Given the description of an element on the screen output the (x, y) to click on. 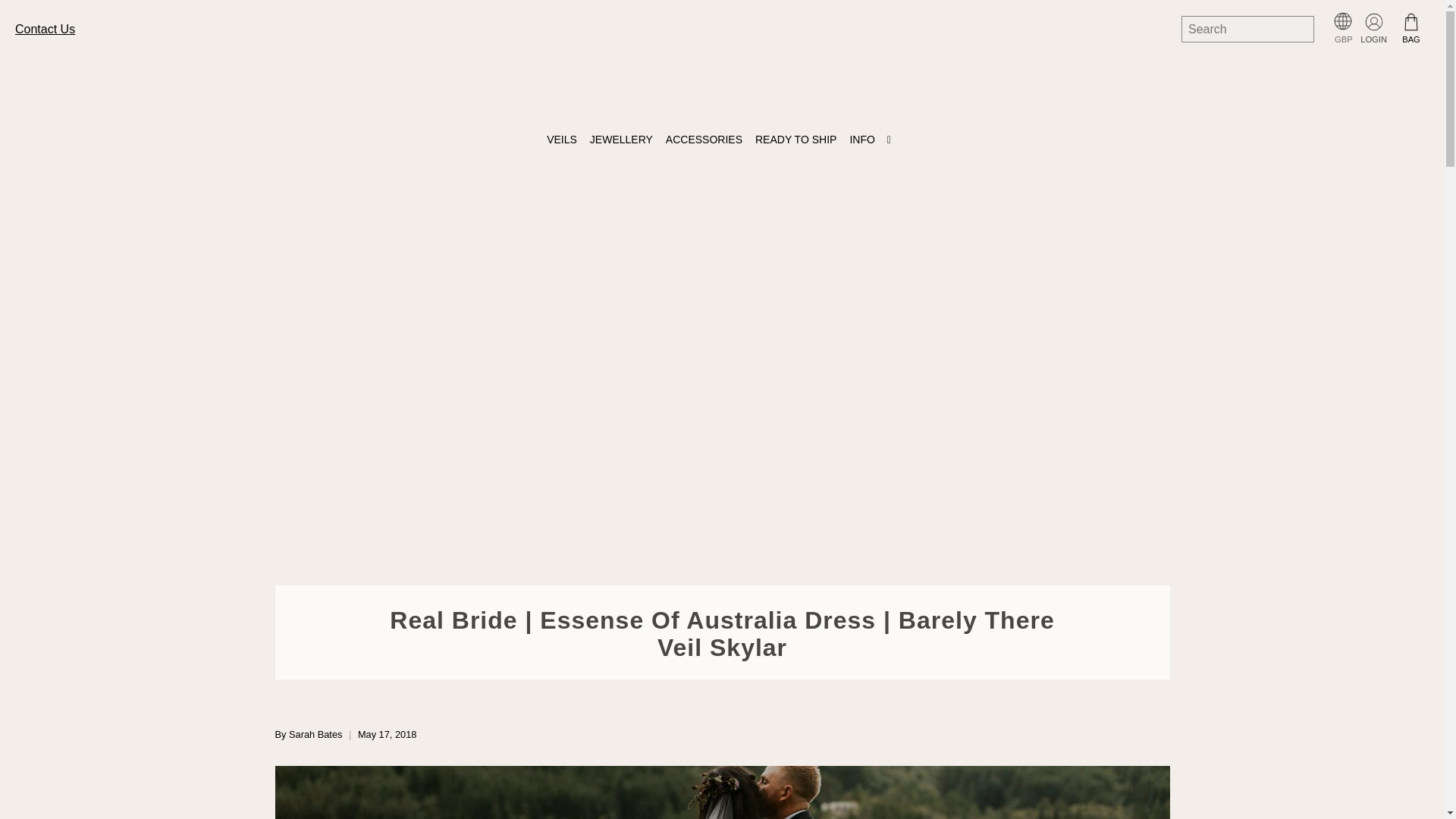
READY TO SHIP (798, 139)
VEILS (564, 139)
INFO (873, 139)
JEWELLERY (624, 139)
ACCESSORIES (706, 139)
Contact Us (44, 29)
